Given the description of an element on the screen output the (x, y) to click on. 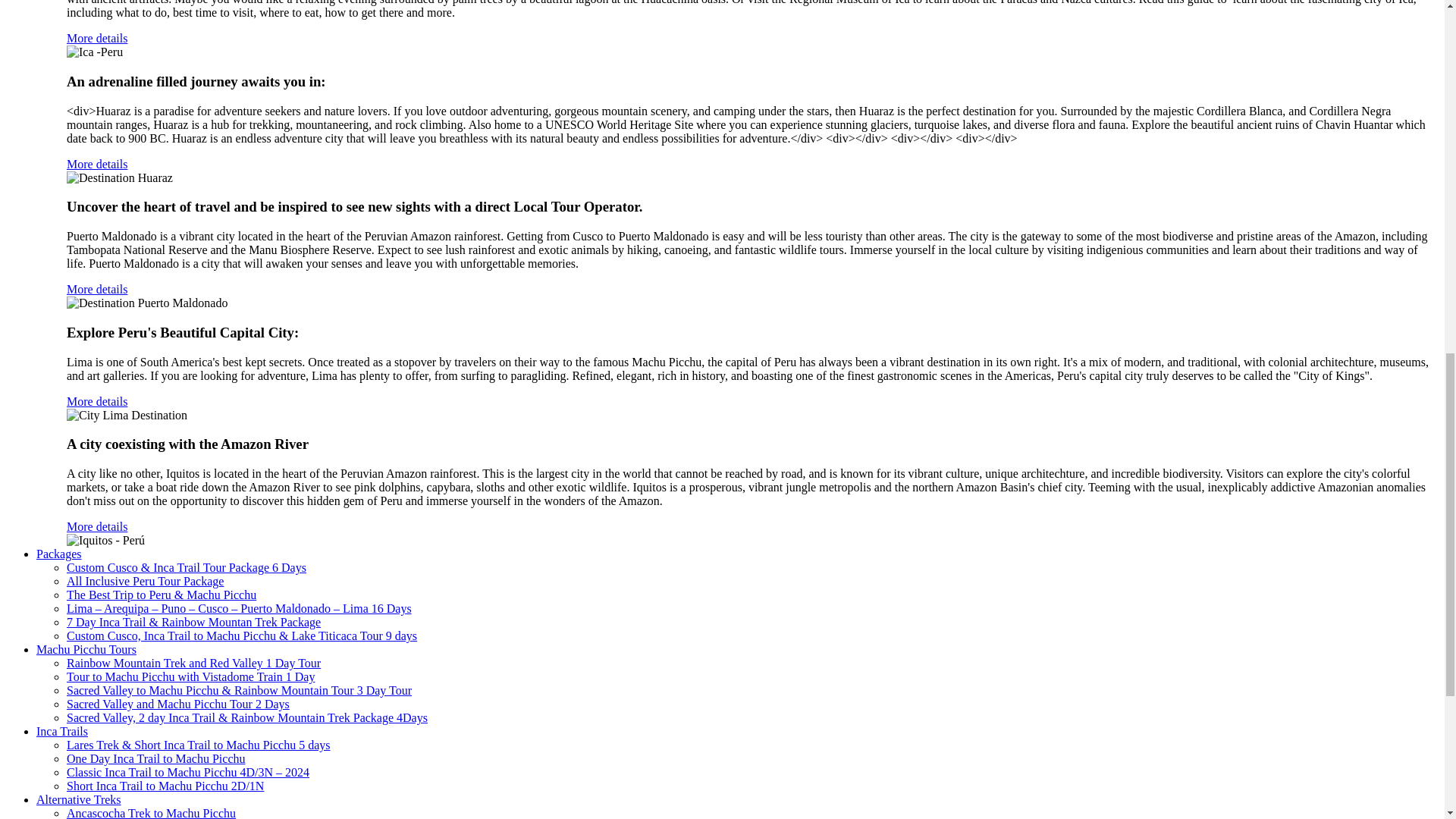
More details (97, 400)
Packages (58, 553)
More details (97, 38)
More details (97, 164)
More details (97, 288)
More details (97, 526)
